Given the description of an element on the screen output the (x, y) to click on. 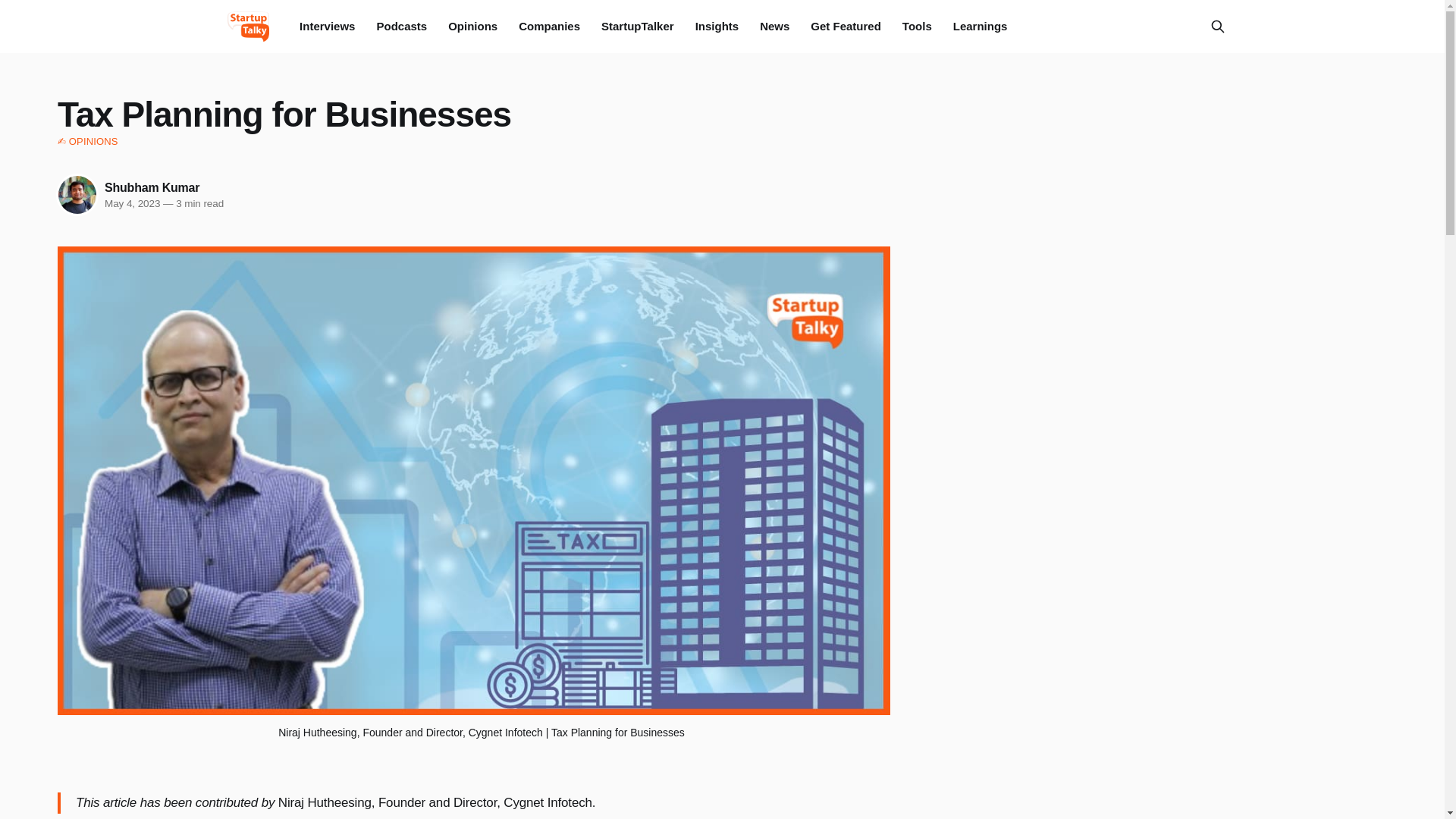
News (774, 25)
Interviews (327, 25)
Opinions (472, 25)
Podcasts (400, 25)
Companies (548, 25)
Insights (717, 25)
StartupTalker (637, 25)
Get Featured (845, 25)
Shubham Kumar (151, 187)
Tools (916, 25)
